Given the description of an element on the screen output the (x, y) to click on. 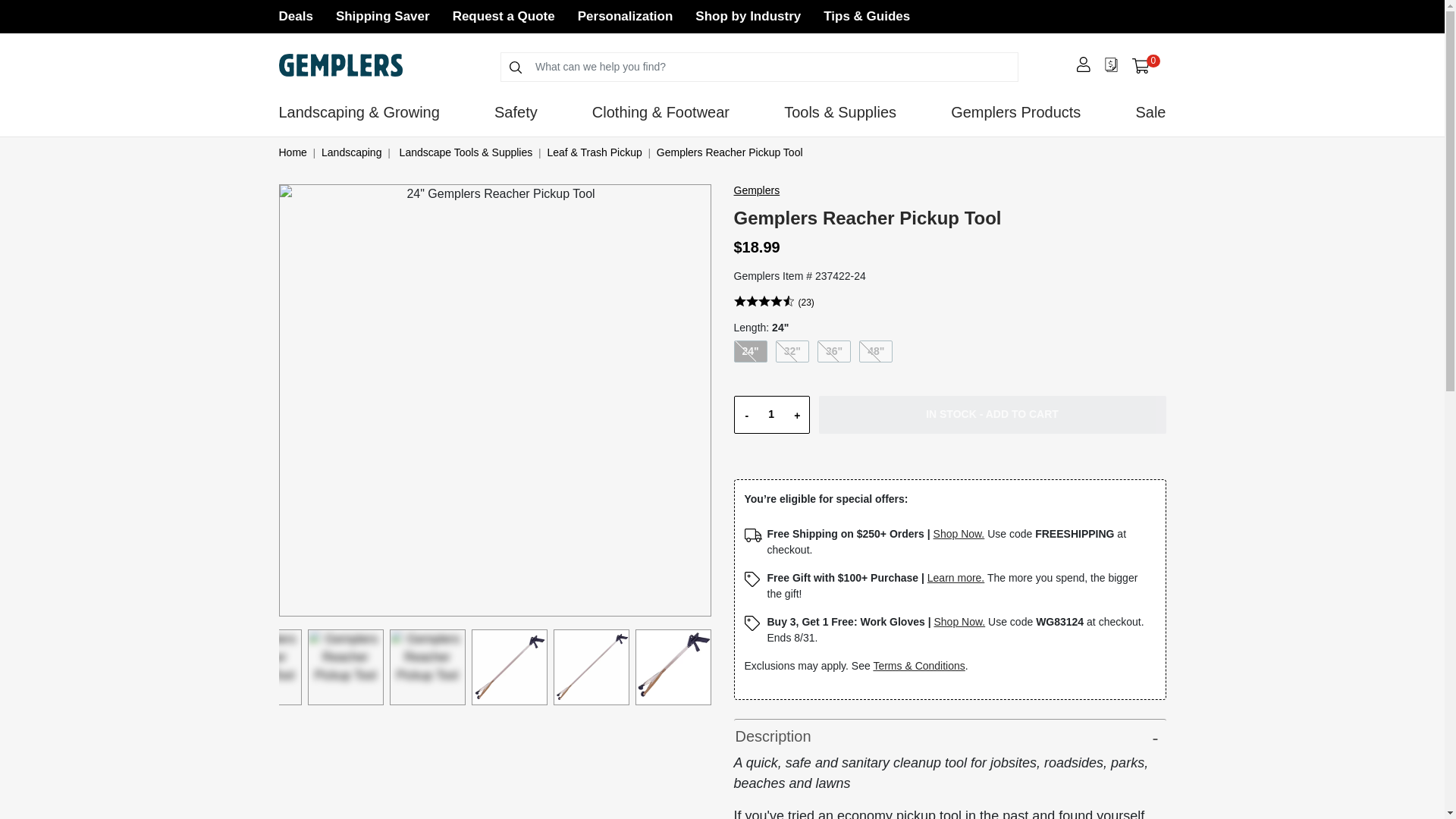
Personalization (1145, 65)
Shop by Industry (625, 16)
Request a Quote (747, 16)
Shipping Saver (503, 16)
Shopping Cart (382, 16)
1 (1141, 66)
Deals (770, 414)
